Given the description of an element on the screen output the (x, y) to click on. 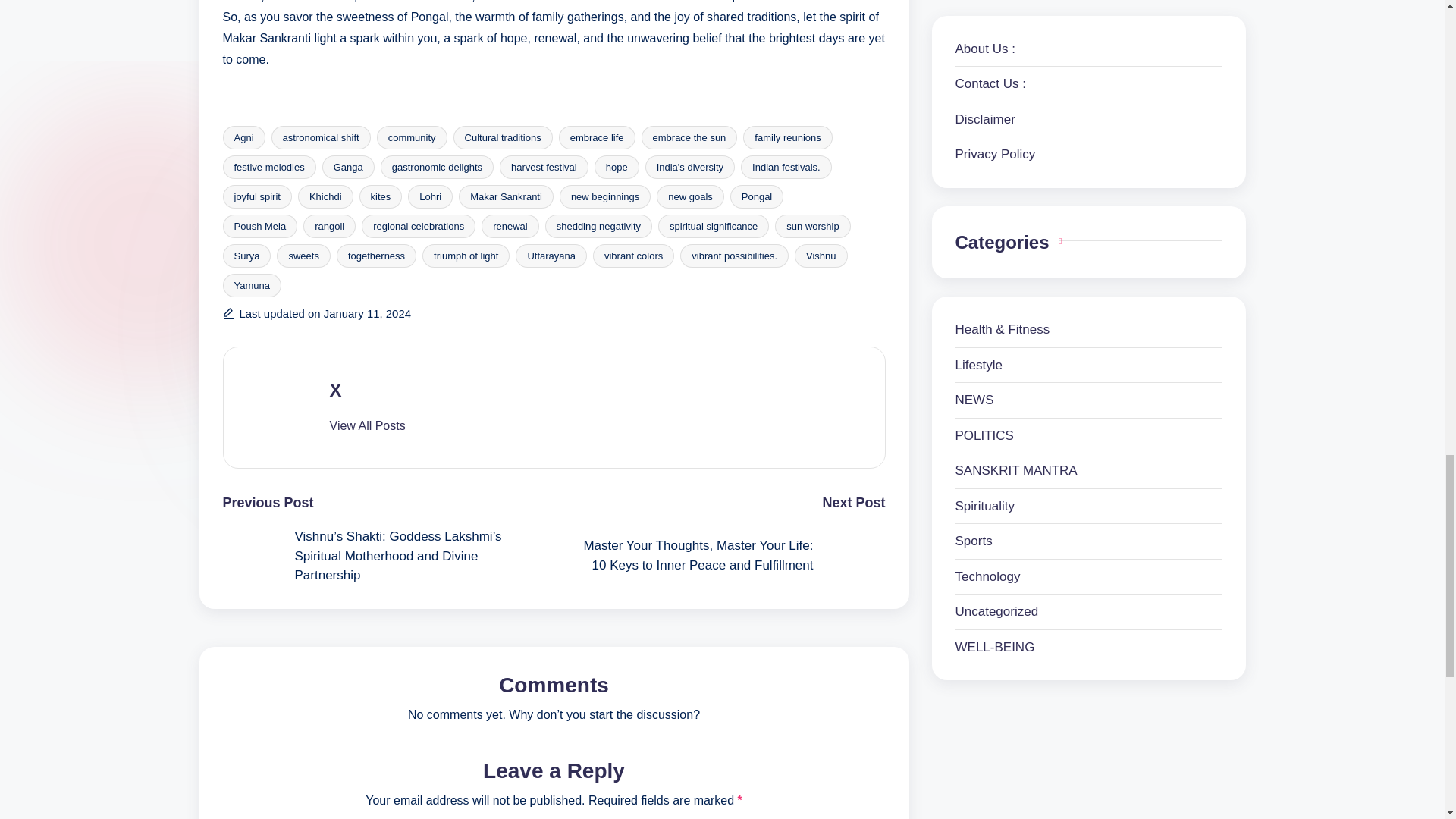
embrace life (596, 137)
Lohri (429, 196)
Cultural traditions (502, 137)
new beginnings (604, 196)
harvest festival (543, 167)
astronomical shift (320, 137)
joyful spirit (257, 196)
community (411, 137)
Makar Sankranti (505, 196)
gastronomic delights (436, 167)
Pongal (756, 196)
Agni (243, 137)
hope (616, 167)
Indian festivals. (786, 167)
India's diversity (690, 167)
